Given the description of an element on the screen output the (x, y) to click on. 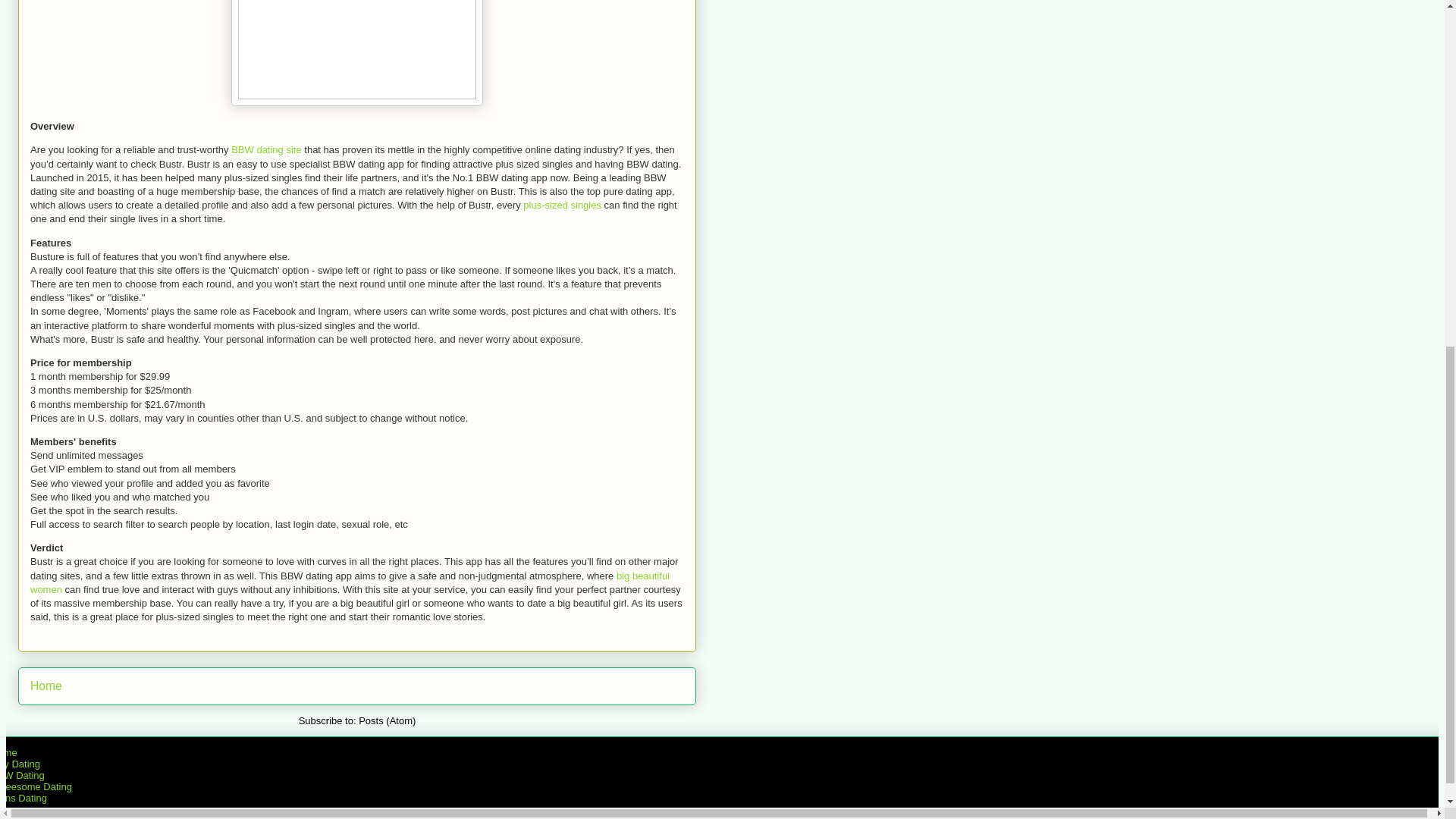
Home (8, 752)
Home (46, 685)
BBW Dating (22, 775)
big beautiful women (349, 582)
BBW dating site (266, 149)
plus-sized singles (561, 204)
Gay Dating (20, 763)
Threesome Dating (35, 786)
Trans Dating (23, 797)
